Given the description of an element on the screen output the (x, y) to click on. 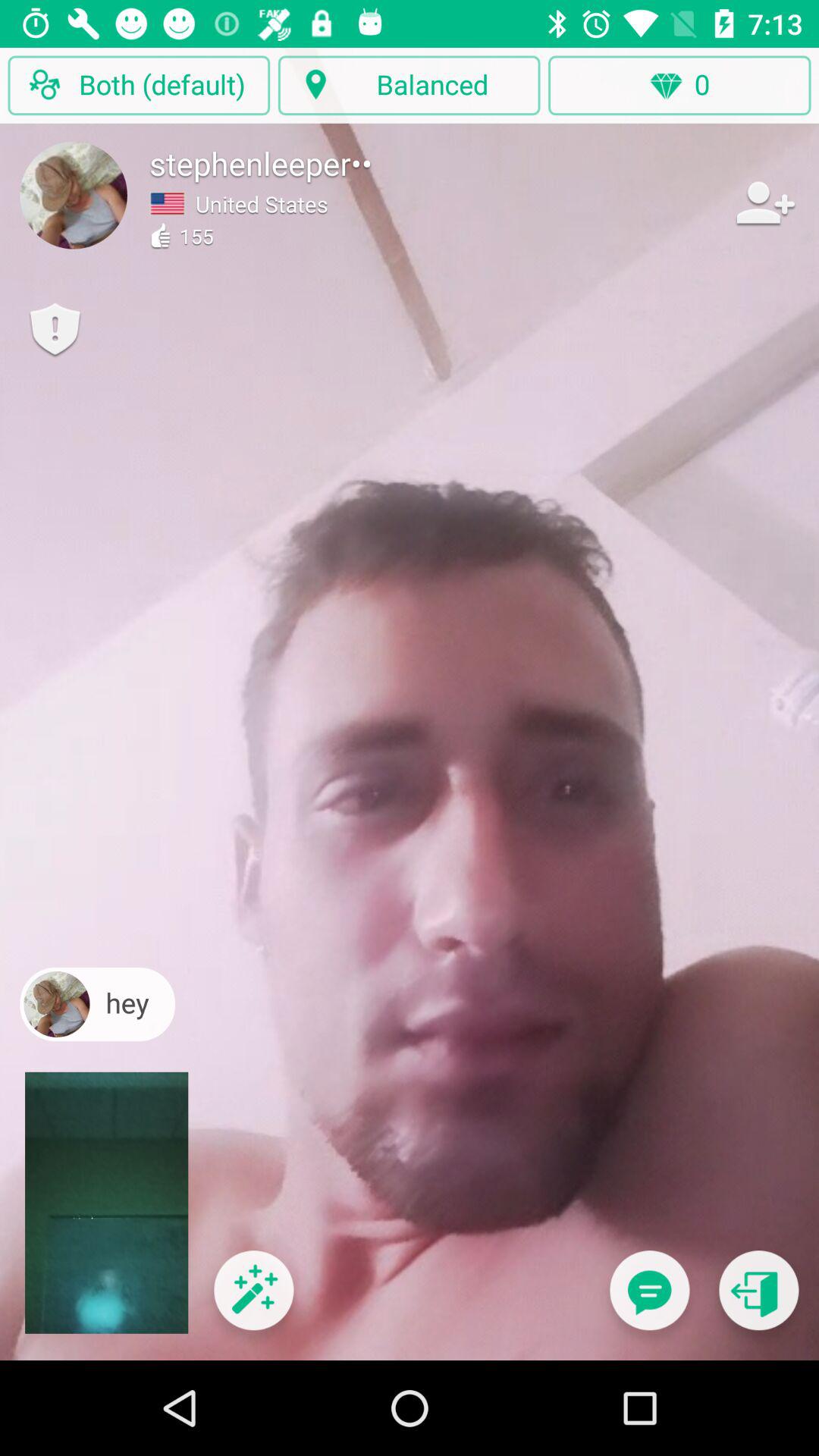
add to friendlist (763, 202)
